Given the description of an element on the screen output the (x, y) to click on. 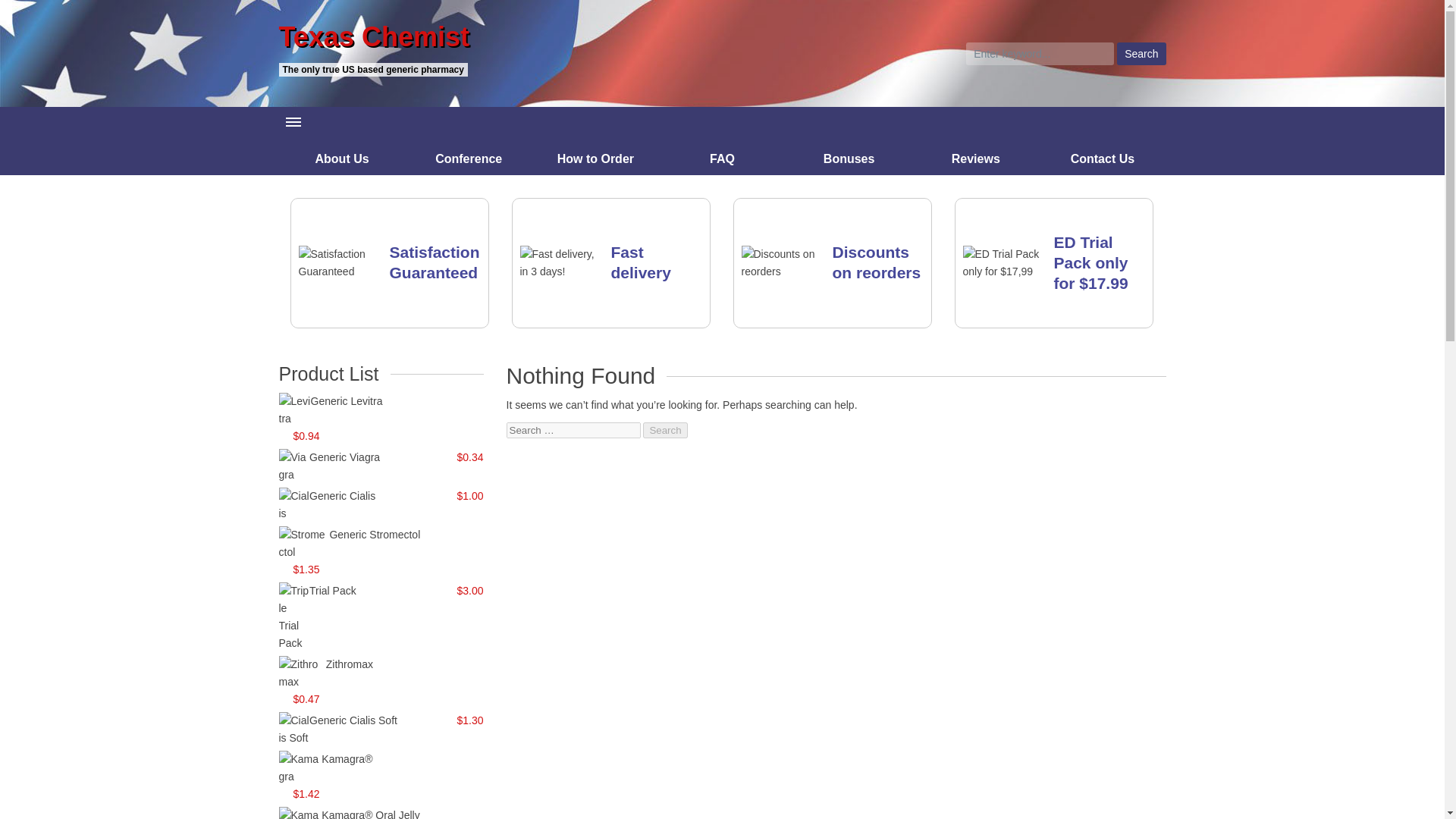
How to Order (595, 158)
Trial Pack (332, 590)
Search (1141, 53)
Generic Viagra (344, 457)
About Us (342, 158)
Generic Stromectol (374, 534)
Enter keyword... (1039, 53)
Contact Us (1102, 158)
Reviews (975, 158)
Search (665, 430)
